Given the description of an element on the screen output the (x, y) to click on. 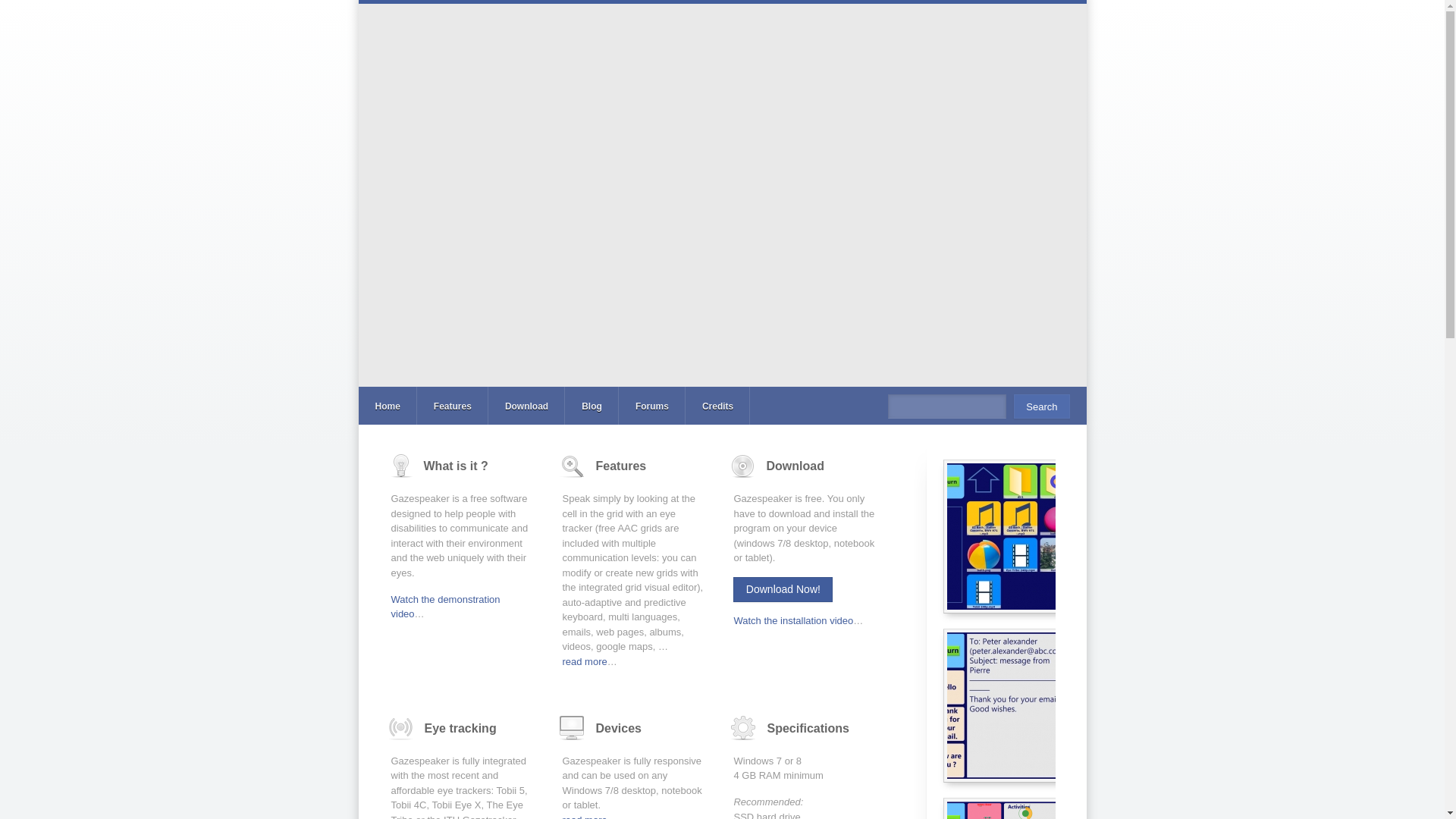
5.1 File explorer (1056, 536)
Download (525, 405)
Search (1040, 405)
Search (1040, 405)
4.2 Write emails with your eyes (1056, 705)
Watch the installation video (793, 620)
Credits (717, 405)
see the demo on Youtube (793, 620)
Watch the demonstration video on YouTube (445, 606)
more features (584, 660)
